Given the description of an element on the screen output the (x, y) to click on. 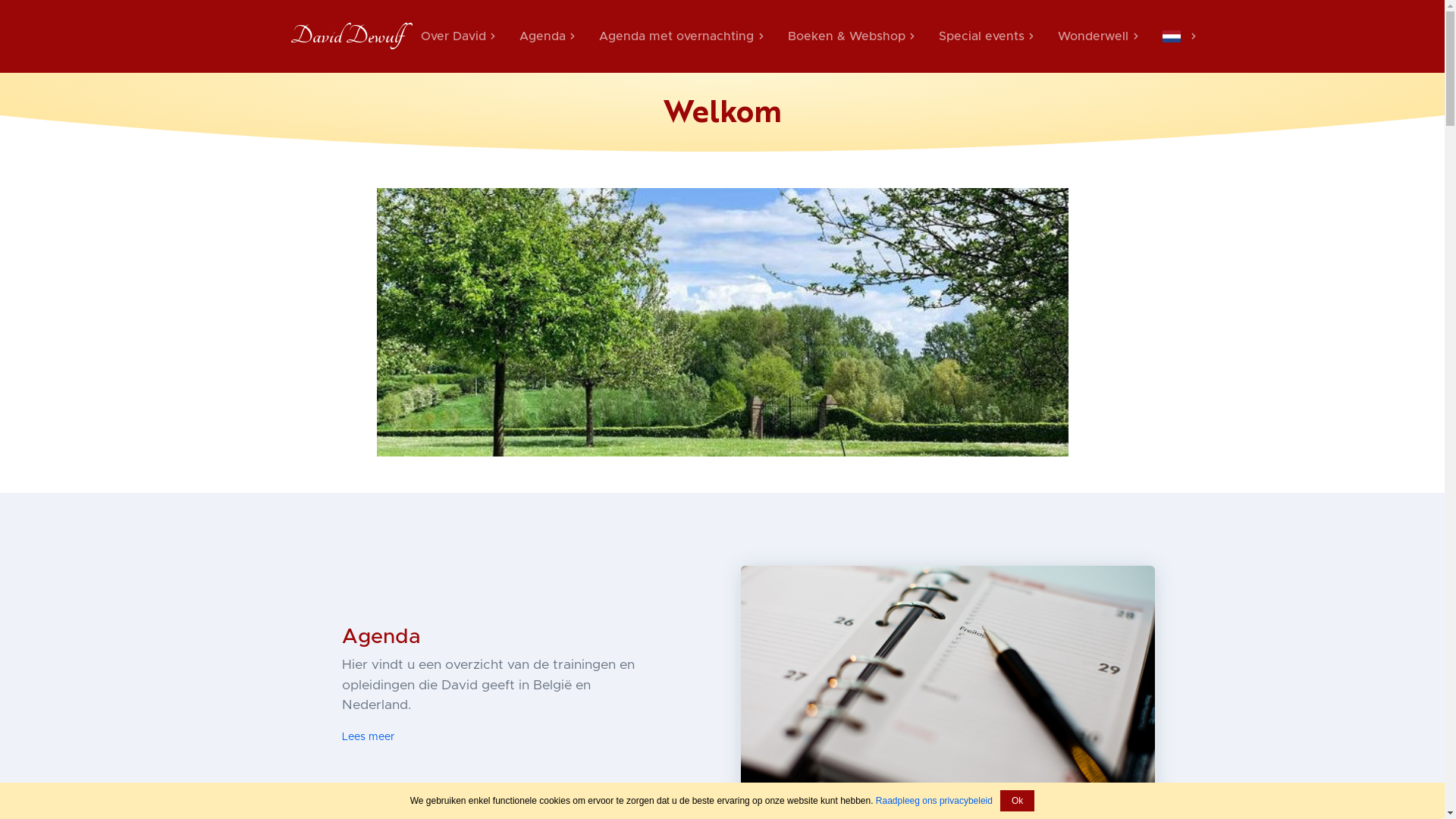
Boeken & Webshop Element type: text (850, 36)
Agenda met overnachting Element type: text (680, 36)
Raadpleeg ons privacybeleid Element type: text (933, 800)
Wonderwell Element type: text (1097, 36)
Agenda Element type: text (546, 36)
Lees meer Element type: text (368, 736)
Ok Element type: text (1017, 800)
David Dewulf Element type: text (345, 36)
Special events Element type: text (985, 36)
Over David Element type: text (457, 36)
